Given the description of an element on the screen output the (x, y) to click on. 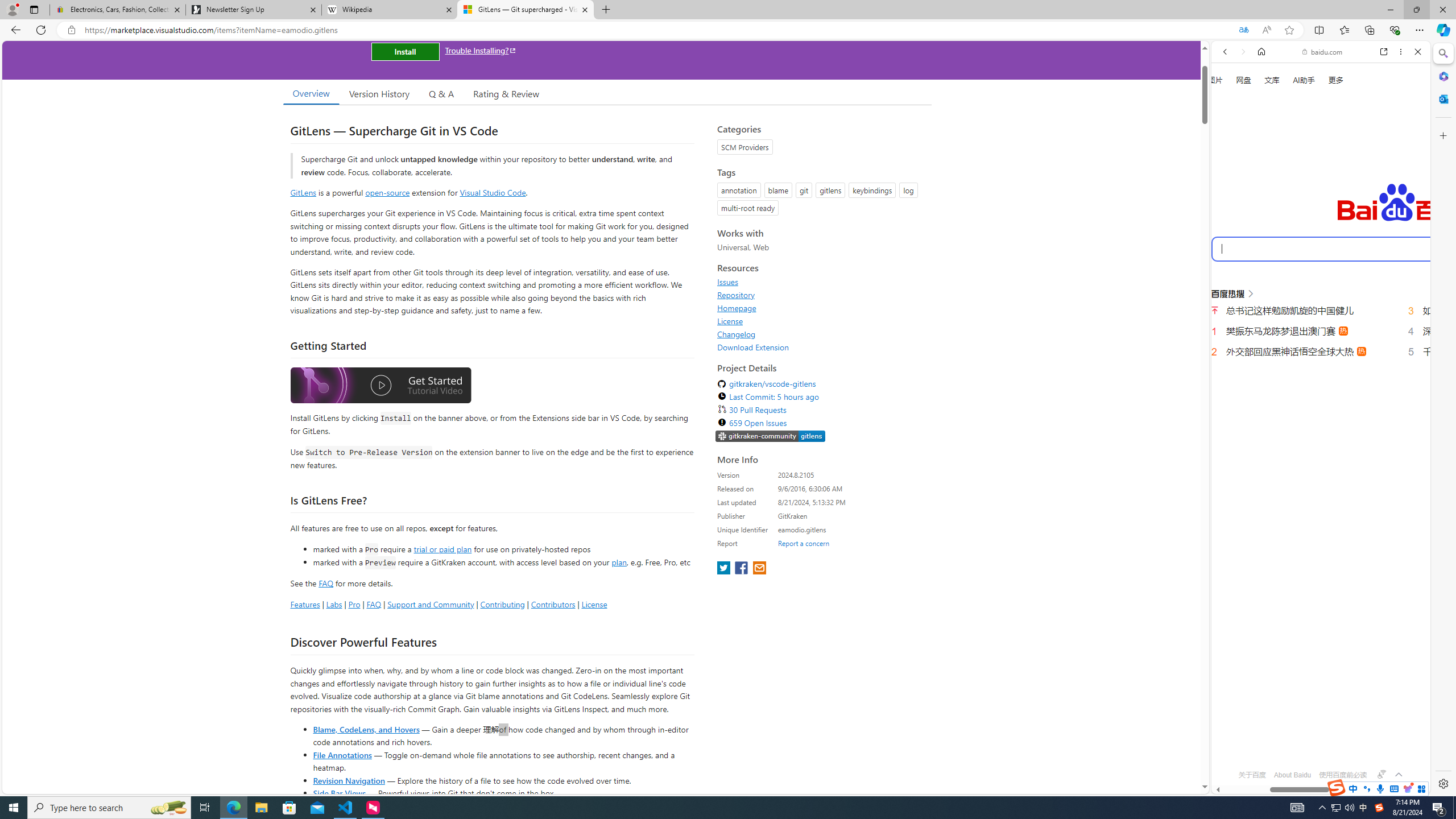
GitLens (303, 192)
Contributing (502, 603)
English (US) (1320, 329)
Learn more (1264, 154)
About Baidu (1292, 774)
https://slack.gitkraken.com// (769, 436)
Support and Community (430, 603)
